Given the description of an element on the screen output the (x, y) to click on. 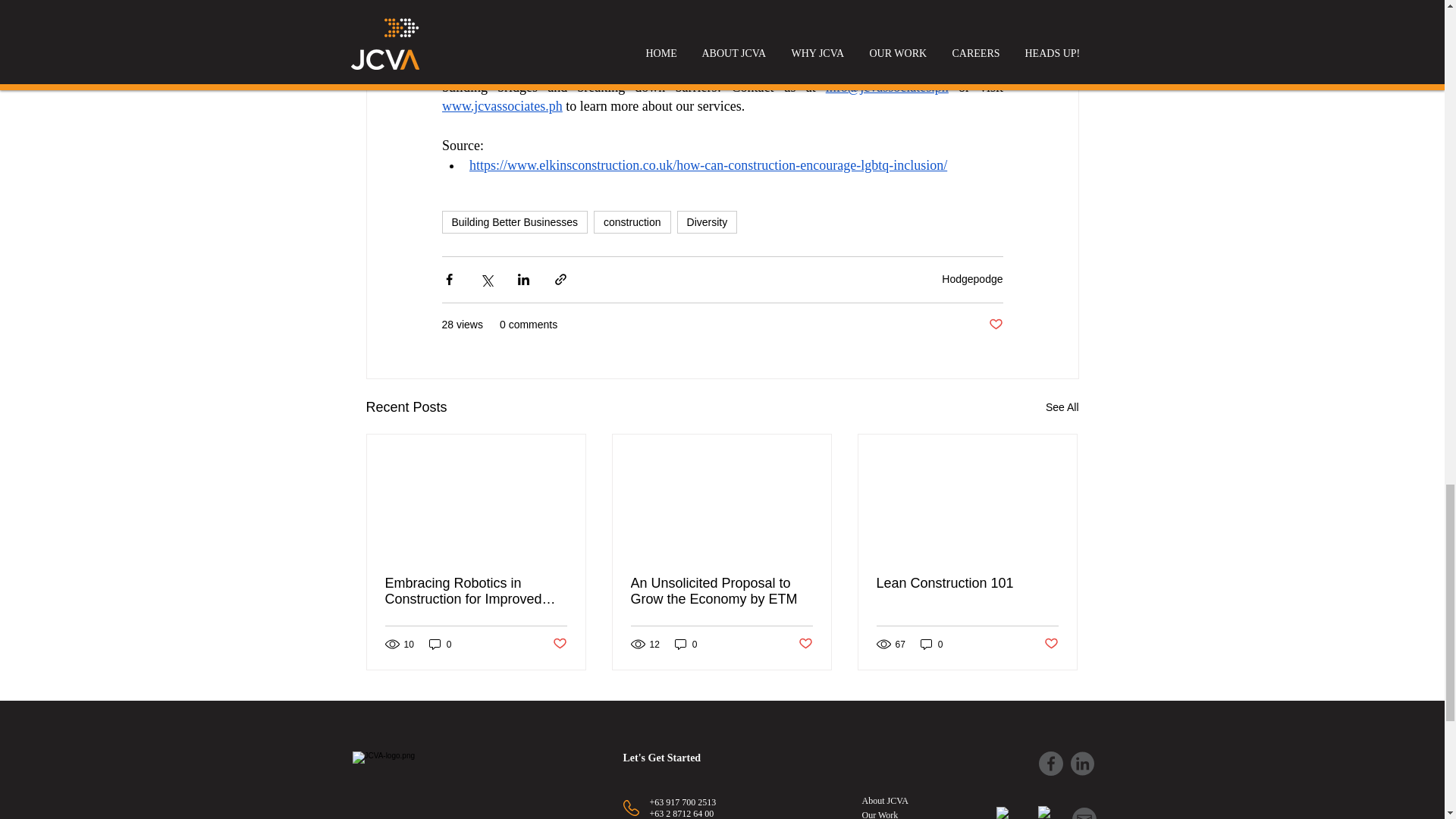
Embracing Robotics in Construction for Improved Efficiency (476, 591)
www.jcvassociates.ph (501, 105)
Hodgepodge (972, 278)
Building Better Businesses (514, 221)
Post not marked as liked (995, 324)
Diversity (707, 221)
See All (1061, 407)
construction (631, 221)
